Given the description of an element on the screen output the (x, y) to click on. 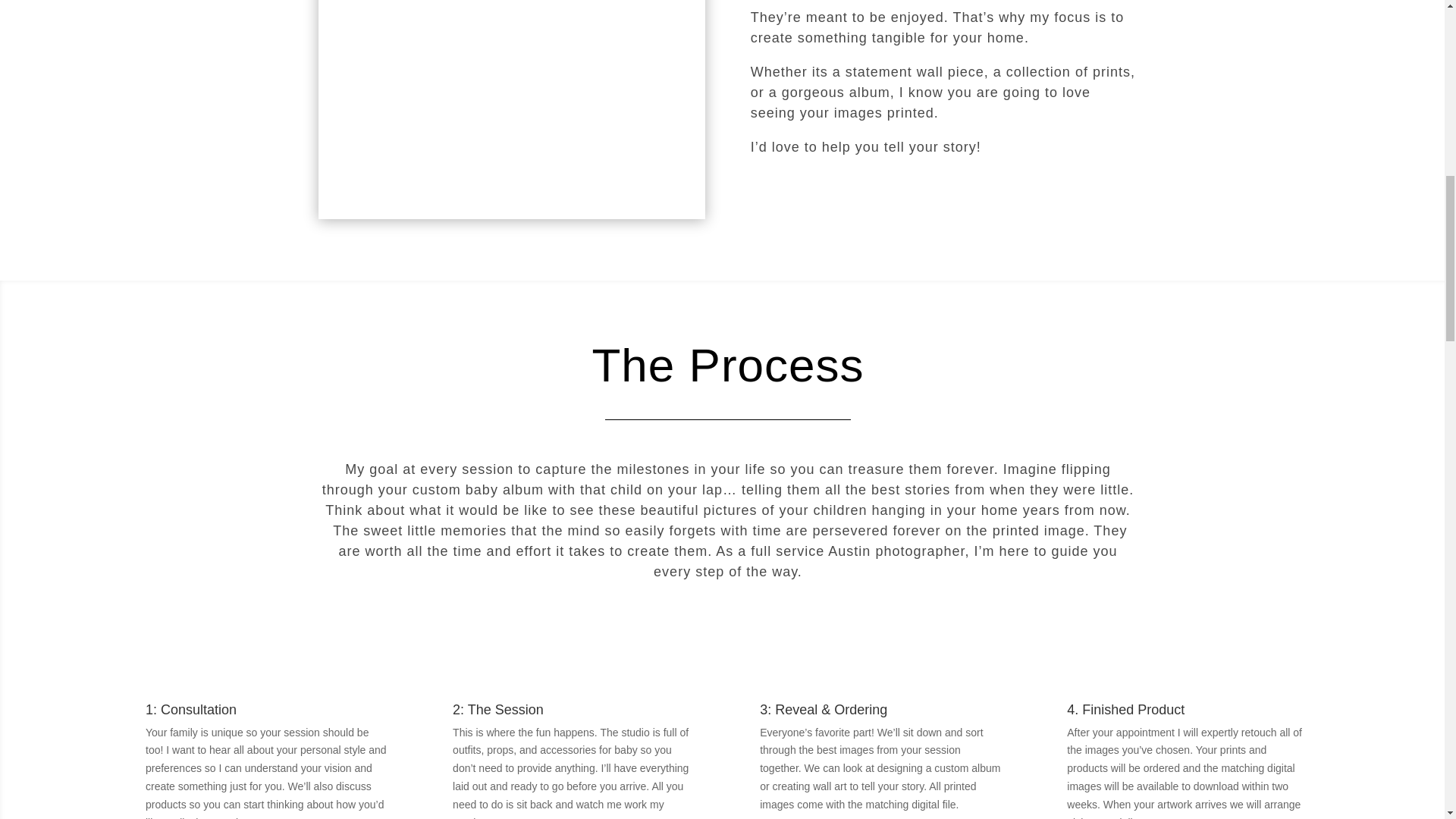
LivingRoomWallArtCrop (511, 105)
